Given the description of an element on the screen output the (x, y) to click on. 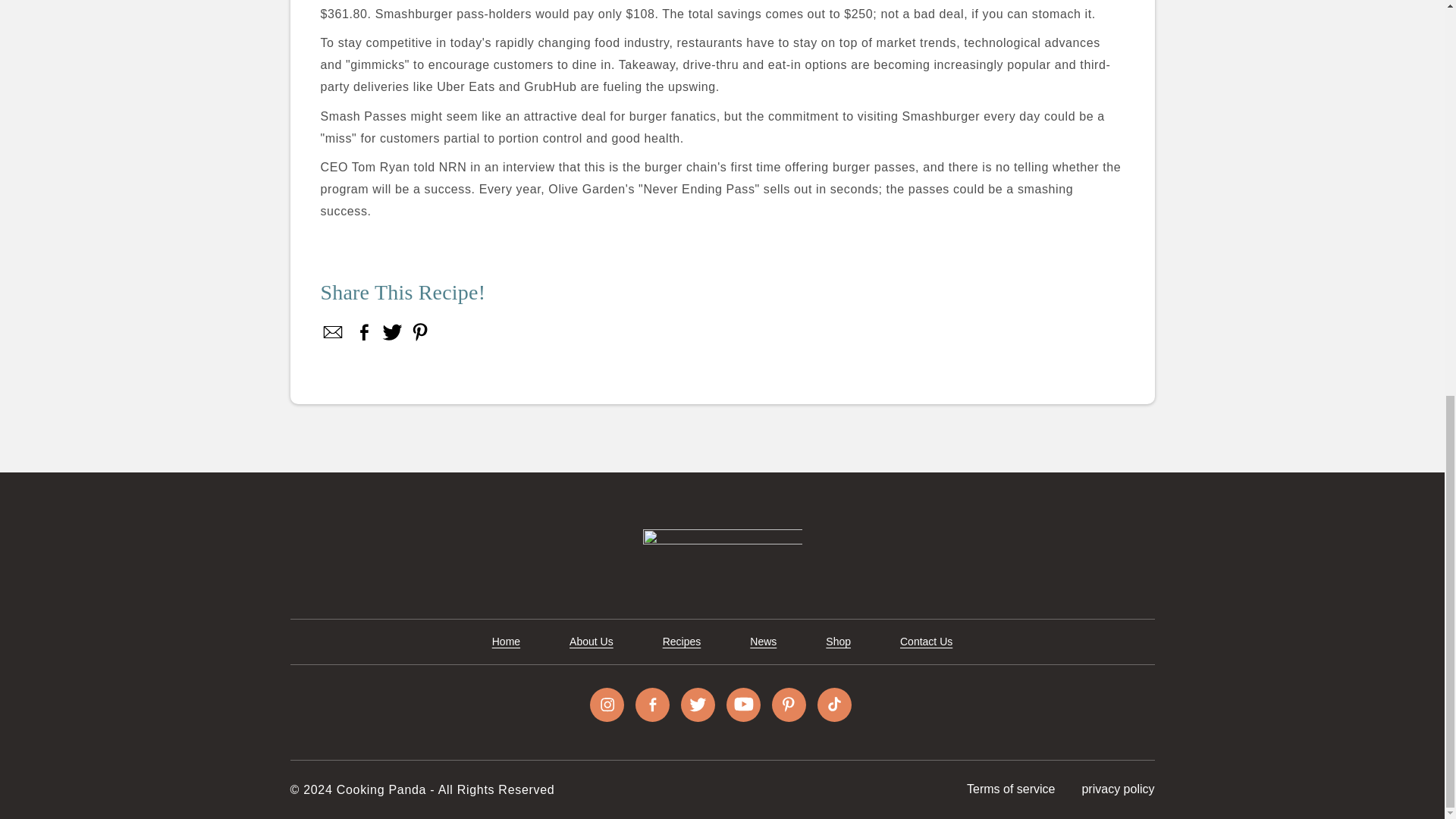
Recipes (681, 641)
Share by Email (333, 332)
Shop (837, 641)
Share on Facebook (333, 332)
Home (505, 641)
News (762, 641)
Twitter (392, 331)
Pin on Pinterest (419, 331)
Facebook (363, 331)
Tweet on Twitter (392, 331)
